Given the description of an element on the screen output the (x, y) to click on. 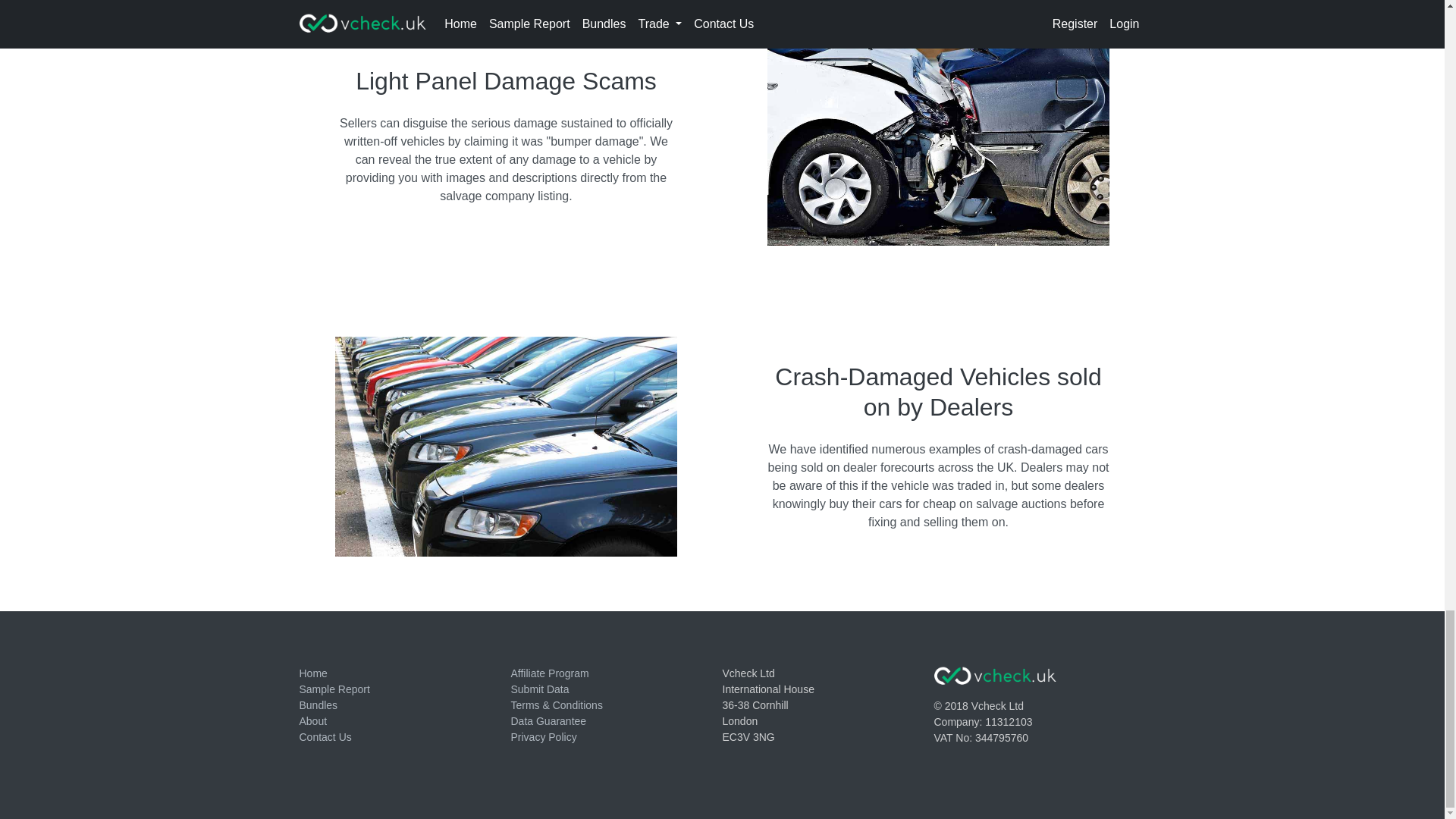
Bundles (317, 705)
Home (312, 673)
Privacy Policy (543, 736)
Affiliate Program (550, 673)
Contact Us (324, 736)
Data Guarantee (548, 720)
Sample Report (333, 689)
Submit Data (540, 689)
About (312, 720)
